Given the description of an element on the screen output the (x, y) to click on. 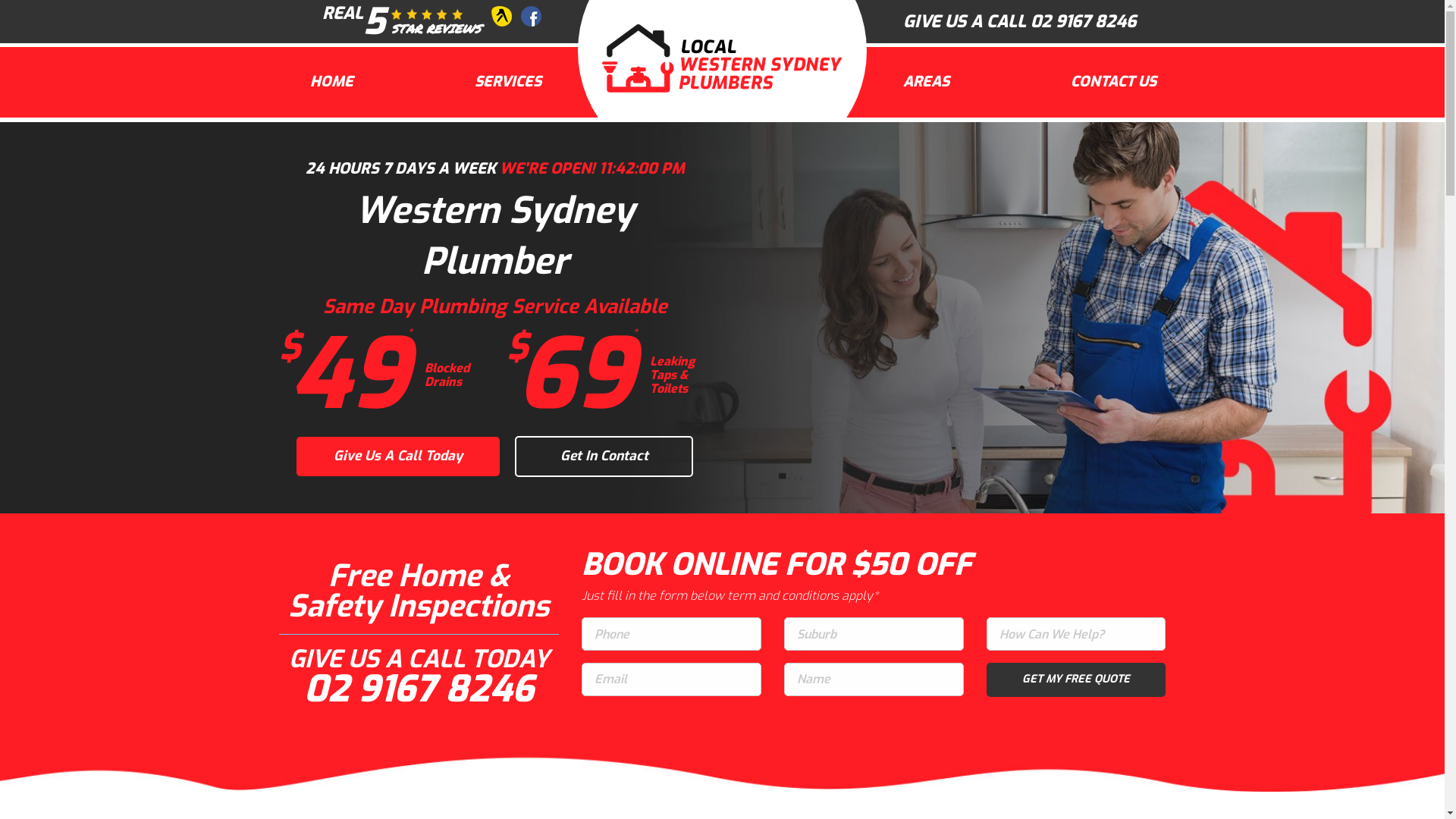
SERVICES Element type: text (507, 82)
HOME Element type: text (331, 82)
GET MY FREE QUOTE Element type: text (1076, 679)
02 9167 8246 Element type: text (1082, 21)
02 9167 8246 Element type: text (418, 689)
CONTACT US Element type: text (1113, 82)
Get In Contact Element type: text (603, 456)
AREAS Element type: text (926, 82)
Give Us A Call Today Element type: text (397, 456)
